Given the description of an element on the screen output the (x, y) to click on. 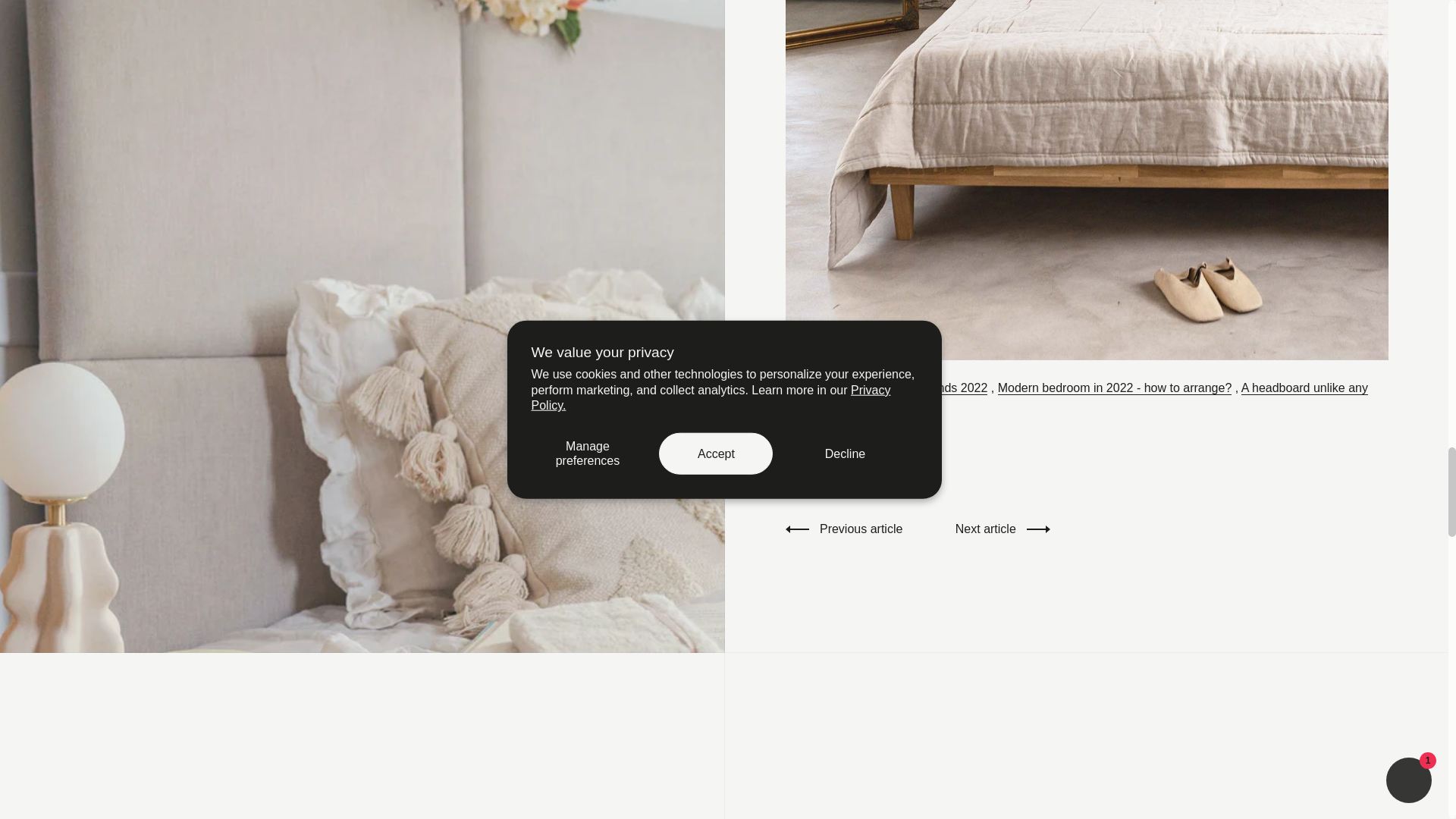
Share on facebook (879, 468)
Share on pinterest (913, 468)
Share on X (846, 468)
